Given the description of an element on the screen output the (x, y) to click on. 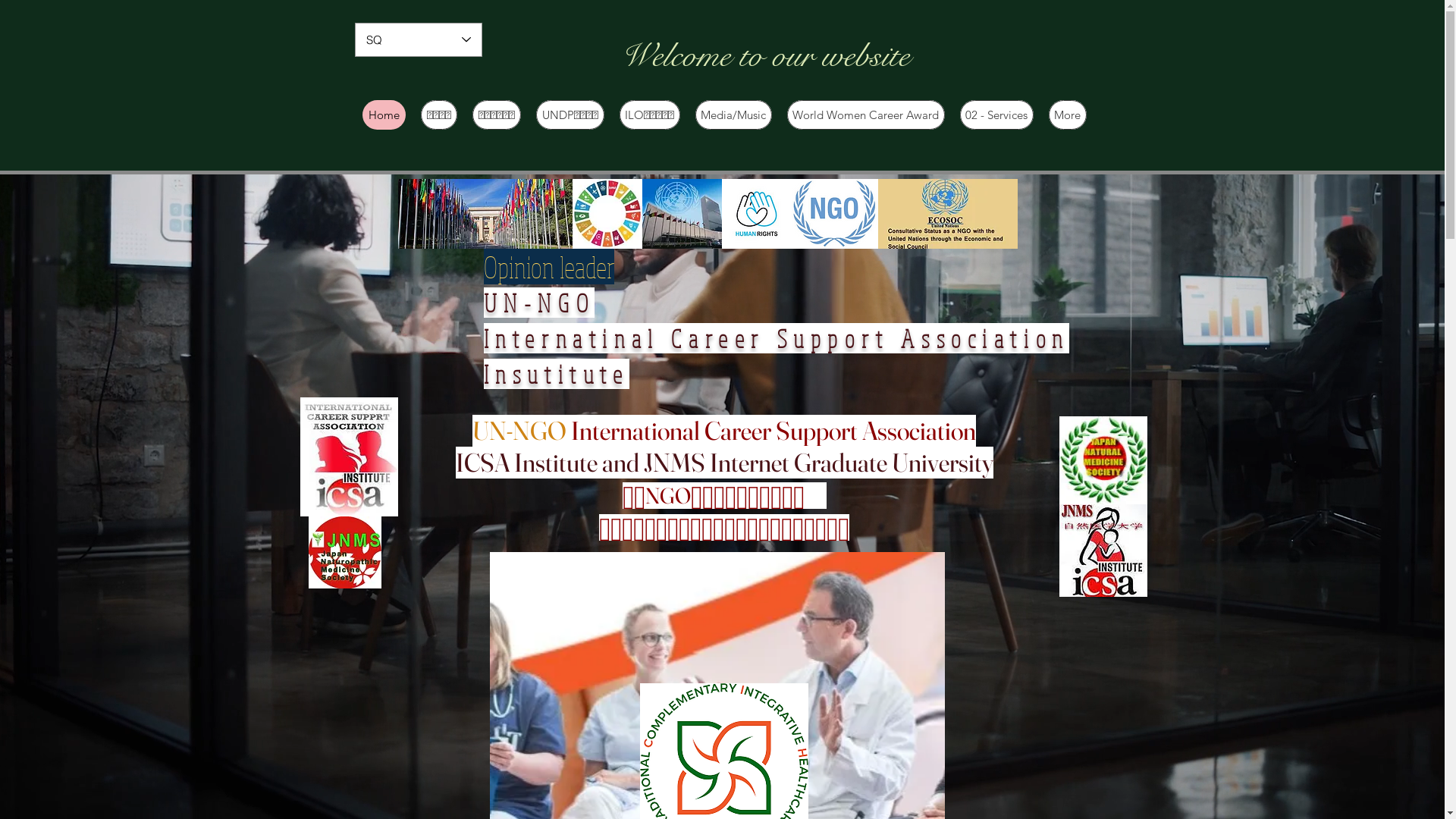
02 - Services Element type: text (996, 114)
Home Element type: text (383, 114)
Media/Music Element type: text (732, 114)
World Women Career Award Element type: text (865, 114)
